Given the description of an element on the screen output the (x, y) to click on. 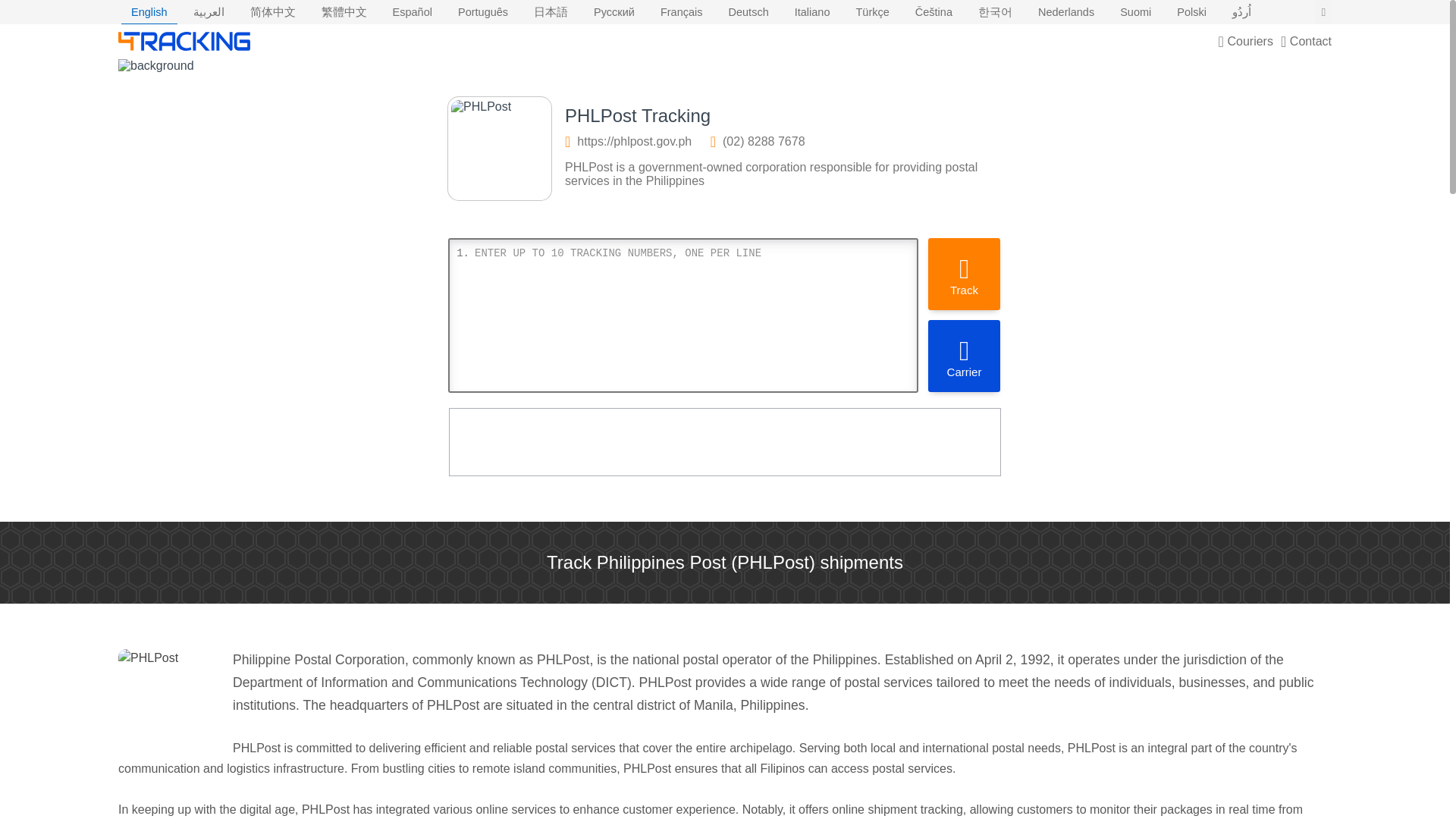
Polski (1191, 12)
French (681, 12)
Italian (812, 12)
Finnish (1134, 12)
Italiano (812, 12)
Spanish (694, 315)
English (412, 12)
Czech (148, 12)
Deutsch (933, 12)
Chinese Traditional (683, 303)
Dutch (748, 12)
Turkish (344, 12)
Korean (1065, 12)
